Given the description of an element on the screen output the (x, y) to click on. 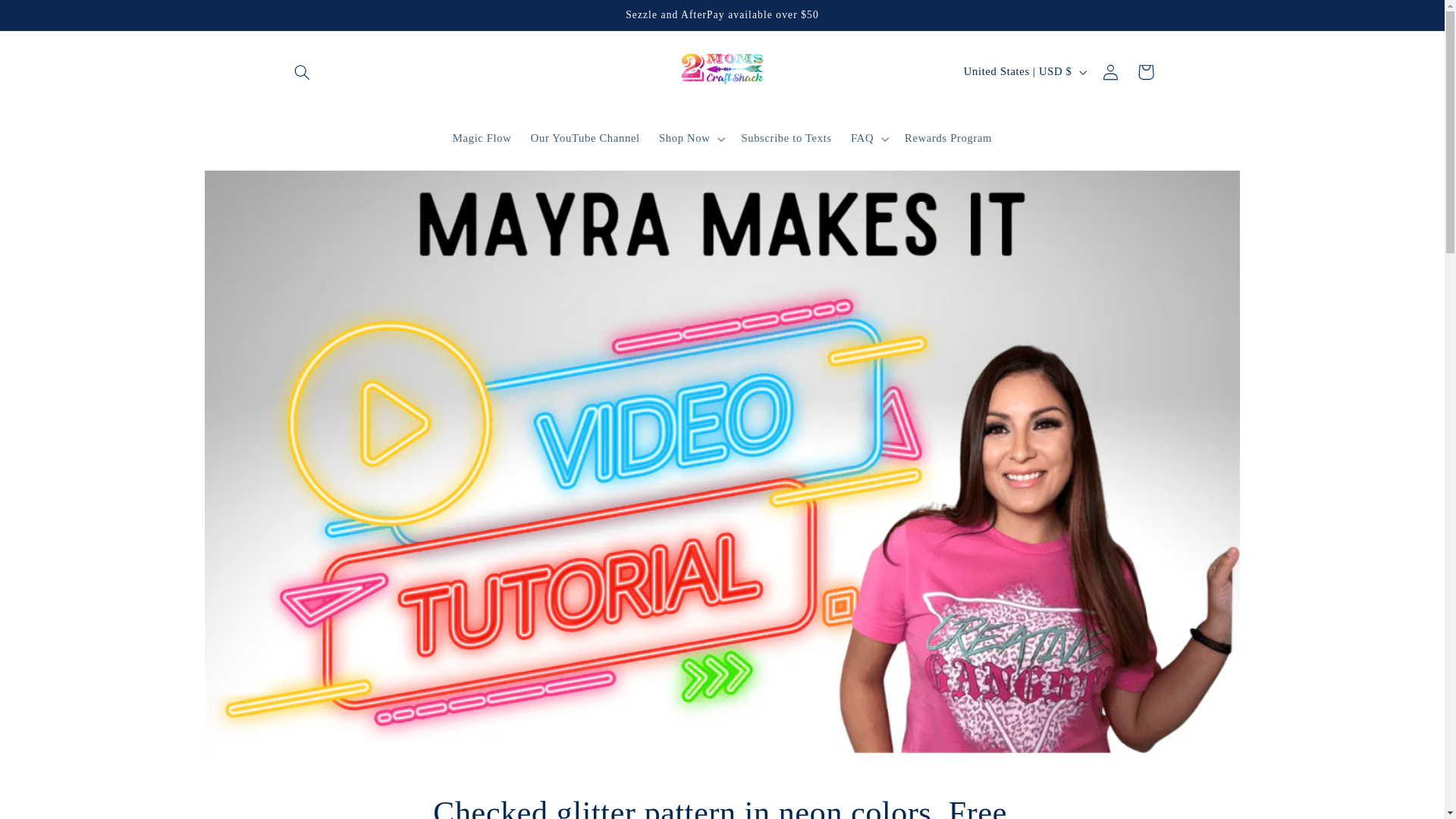
Magic Flow (481, 138)
Our YouTube Channel (585, 138)
Skip to content (48, 18)
